Given the description of an element on the screen output the (x, y) to click on. 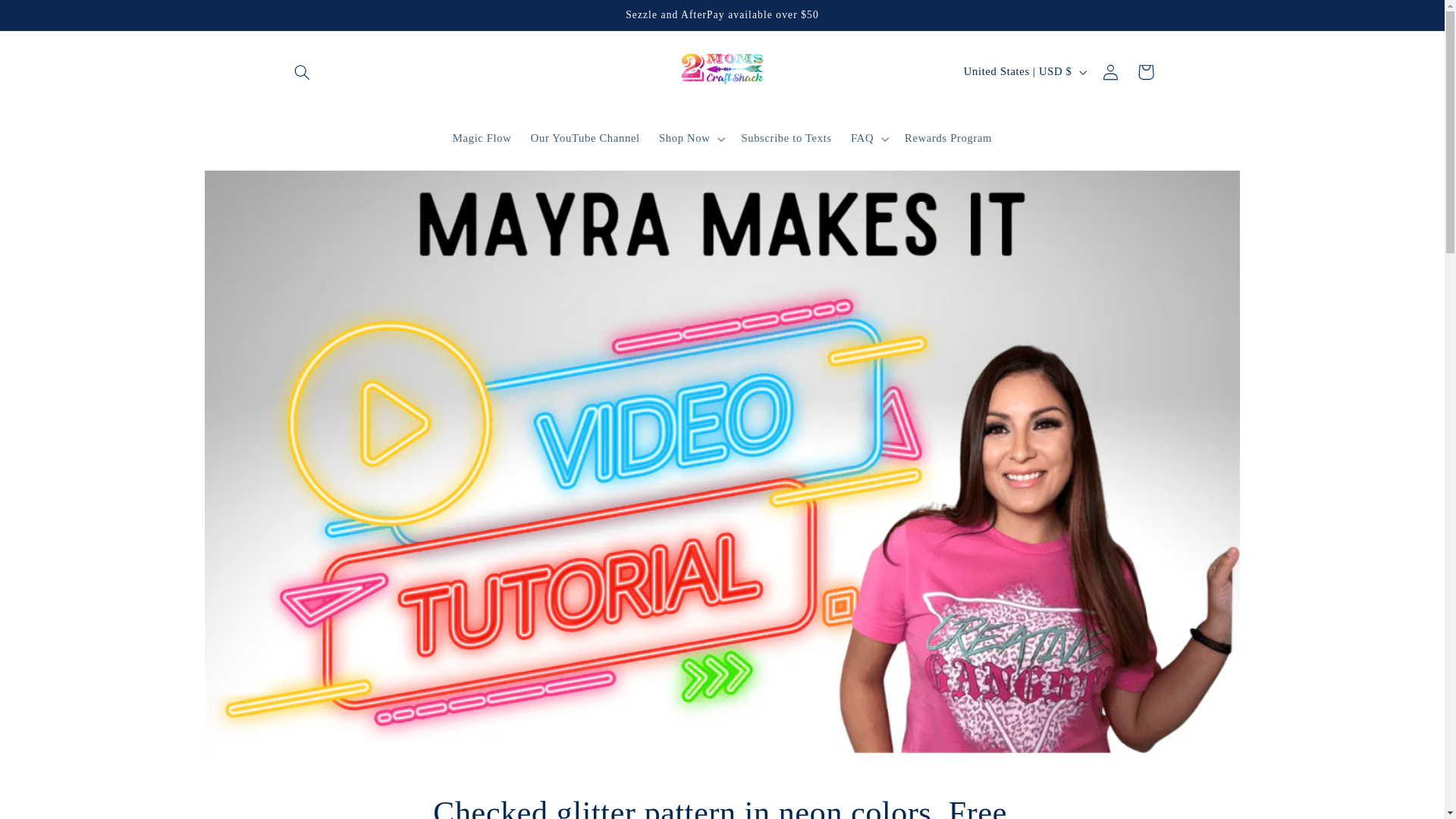
Magic Flow (481, 138)
Our YouTube Channel (585, 138)
Skip to content (48, 18)
